Given the description of an element on the screen output the (x, y) to click on. 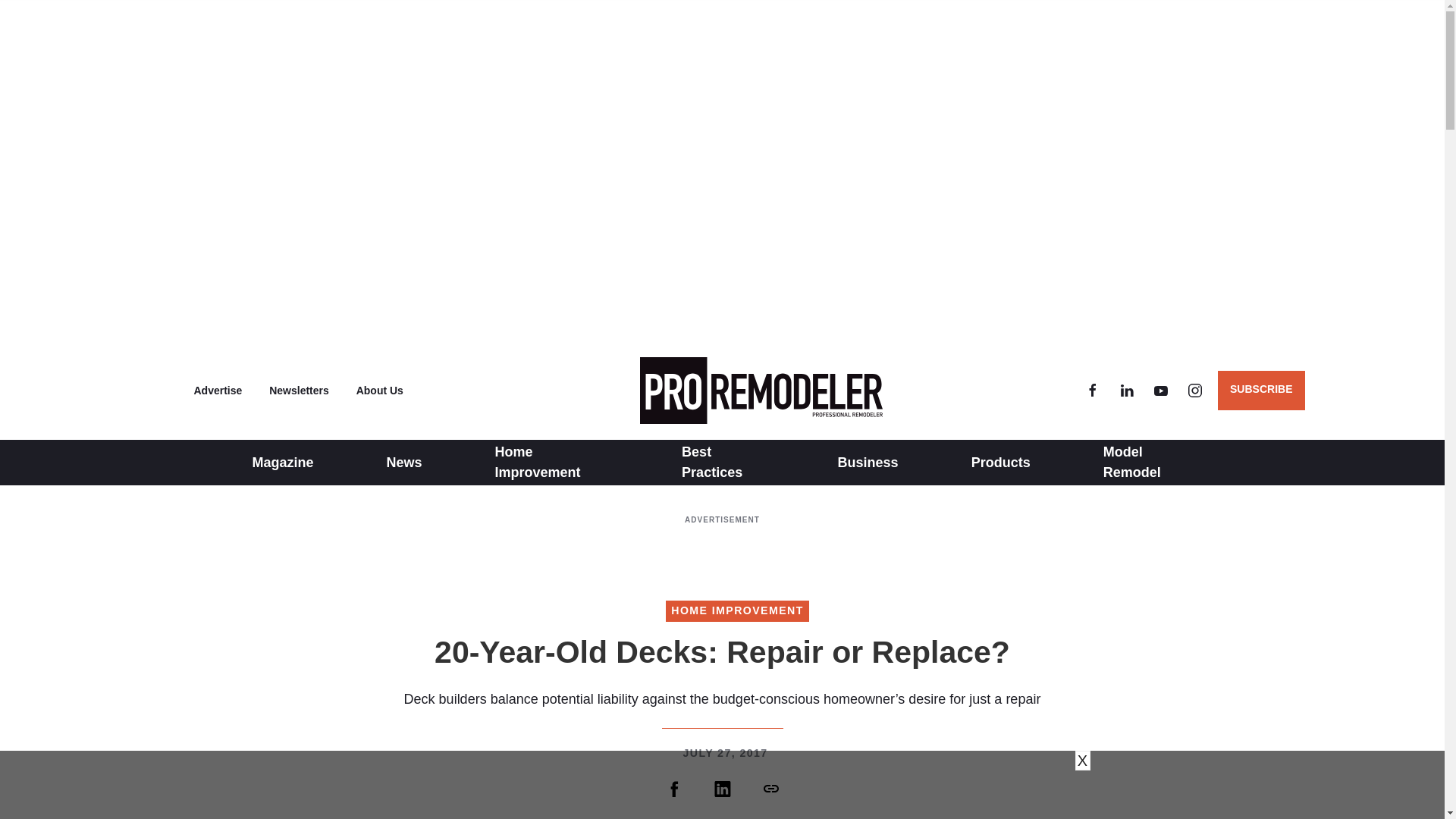
Newsletters (298, 389)
About Us (378, 389)
3rd party ad content (721, 551)
Home (756, 390)
SUBSCRIBE (1260, 390)
Advertise (218, 389)
